Given the description of an element on the screen output the (x, y) to click on. 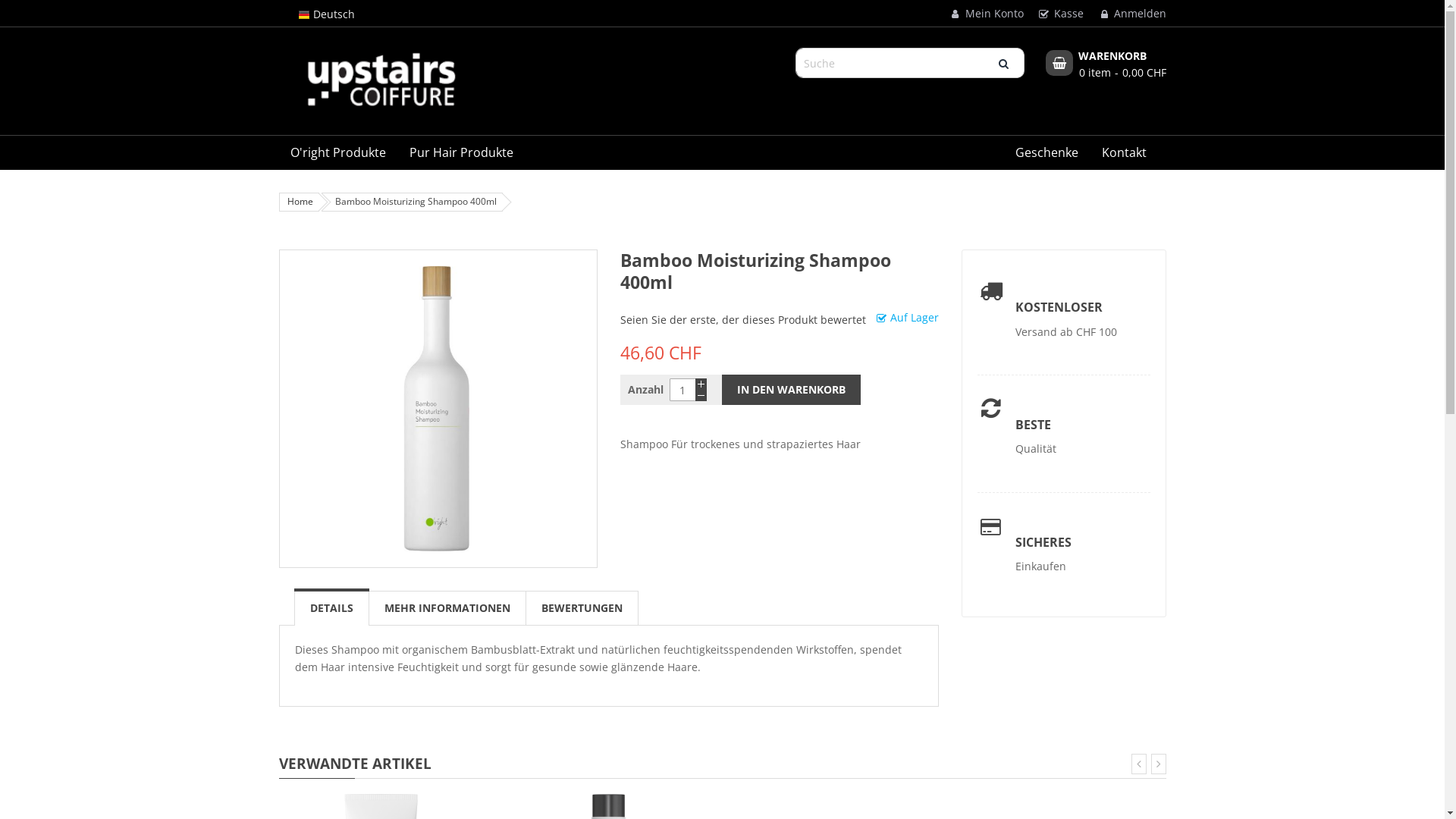
Pur Hair Produkte Element type: text (460, 152)
Kontakt Element type: text (1124, 152)
Kasse Element type: text (1057, 13)
SICHERES Element type: text (1042, 541)
Anmelden Element type: text (1127, 13)
BEWERTUNGEN Element type: text (581, 607)
DETAILS Element type: text (330, 607)
Mein Konto Element type: text (981, 13)
O'right Produkte Element type: text (337, 152)
MEHR INFORMATIONEN Element type: text (446, 607)
IN DEN WARENKORB Element type: text (790, 389)
Upstairs Coiffure Element type: hover (381, 80)
Seien Sie der erste, der dieses Produkt bewertet Element type: text (743, 319)
KOSTENLOSER Element type: text (1057, 306)
Home Element type: text (299, 201)
Suche Element type: hover (1002, 62)
Geschenke Element type: text (1046, 152)
BESTE Element type: text (1032, 424)
Anzahl Element type: hover (681, 389)
WARENKORB
0 item
0,00 CHF Element type: text (1104, 64)
